Given the description of an element on the screen output the (x, y) to click on. 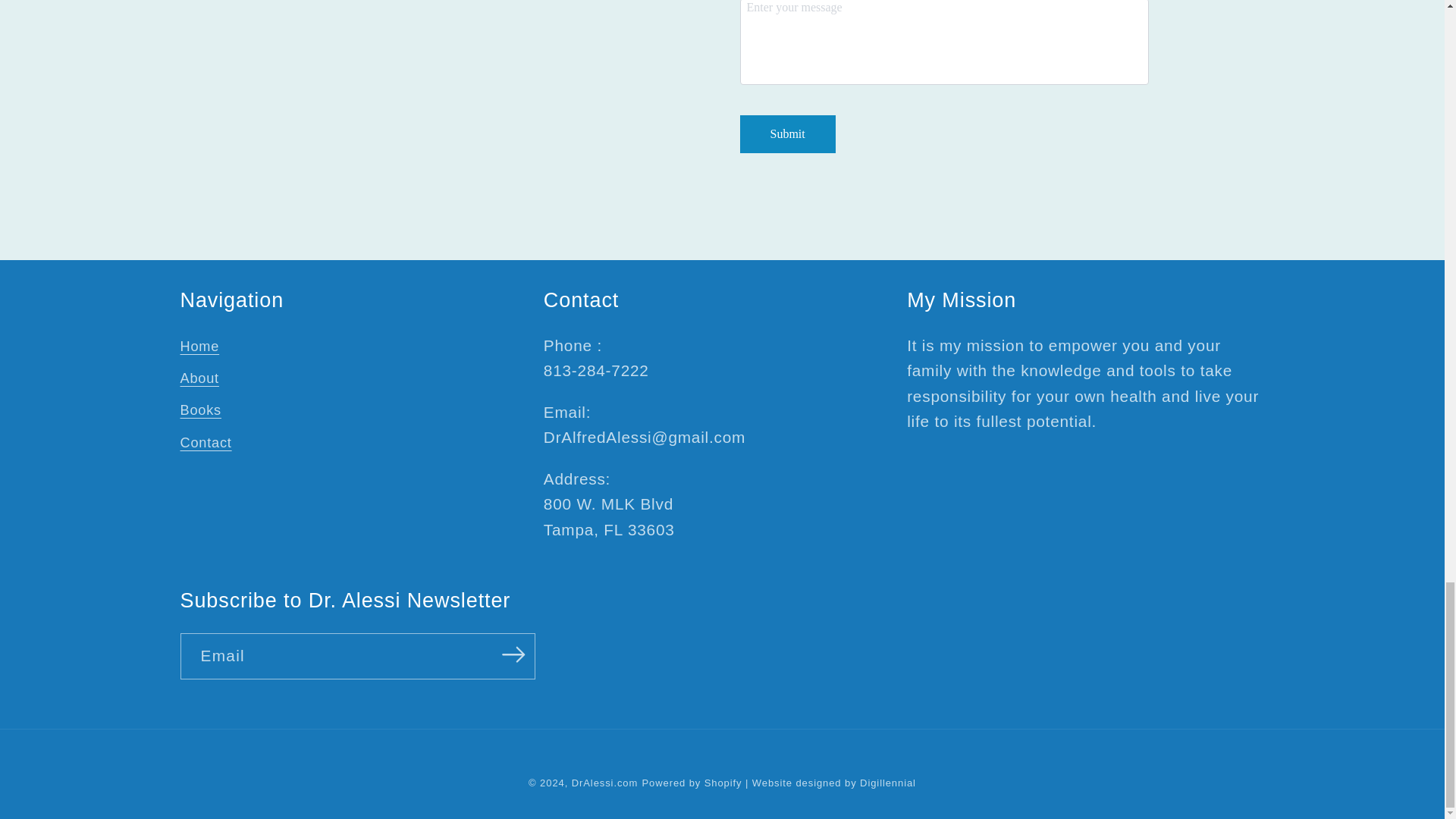
About (199, 377)
Books (200, 410)
Home (199, 349)
Submit (787, 134)
Contact (205, 442)
